Given the description of an element on the screen output the (x, y) to click on. 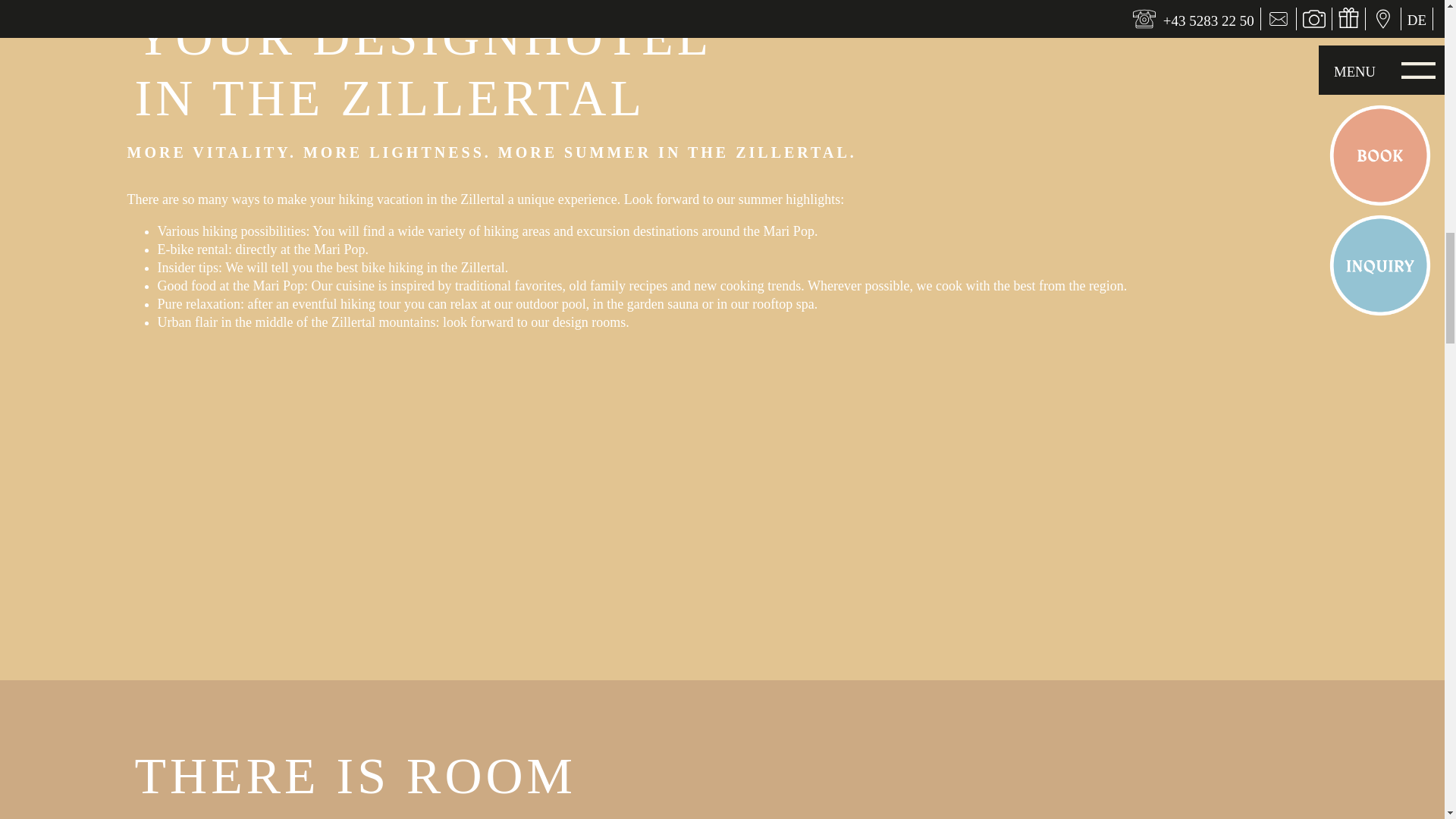
Summer vacation at Mari Pop (318, 484)
Outdoor Pool at Mari Pop (1126, 484)
Summer in the Zillertal (721, 484)
